Given the description of an element on the screen output the (x, y) to click on. 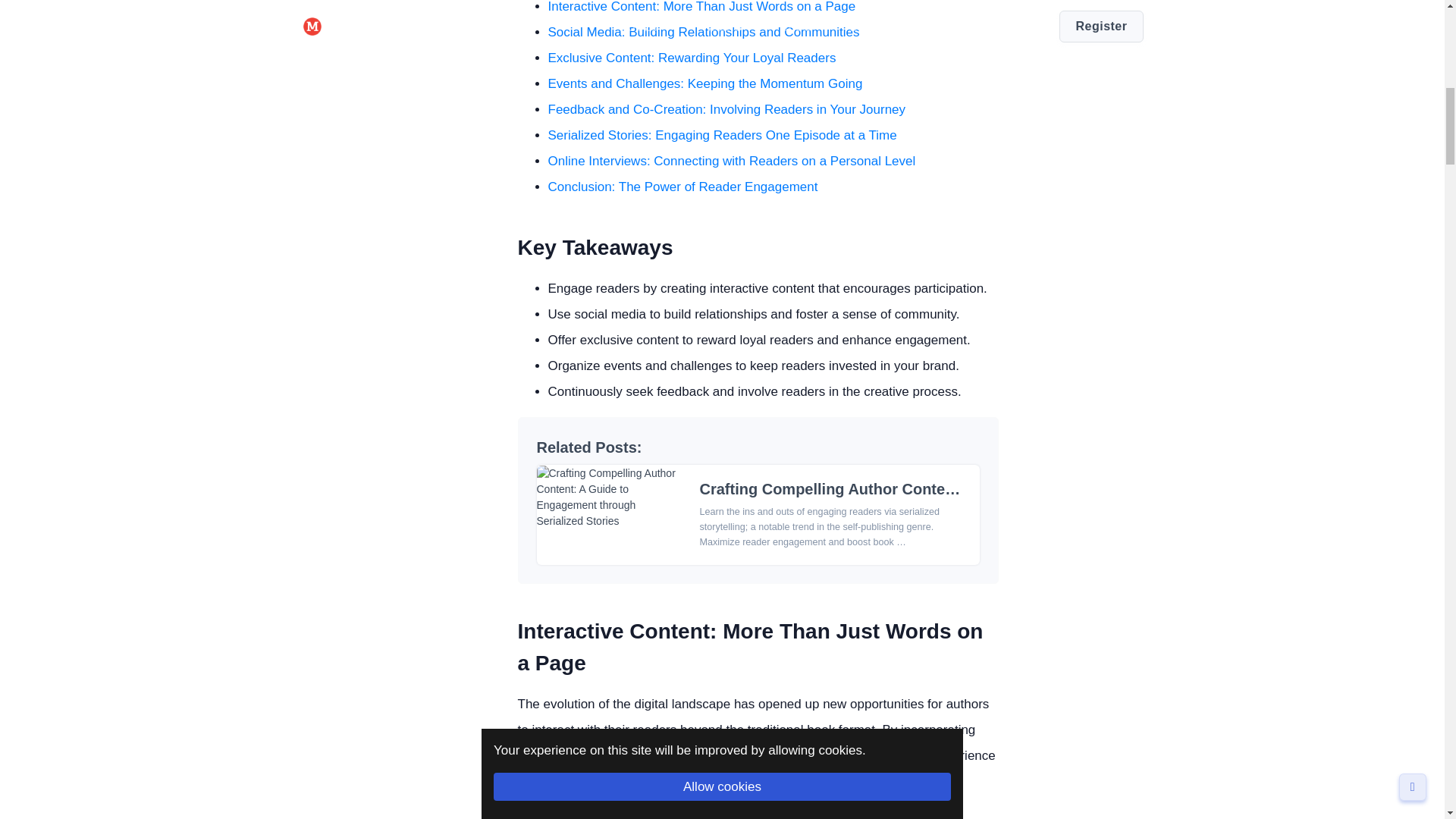
Feedback and Co-Creation: Involving Readers in Your Journey (726, 109)
Events and Challenges: Keeping the Momentum Going (704, 83)
Conclusion: The Power of Reader Engagement (681, 186)
Serialized Stories: Engaging Readers One Episode at a Time (721, 134)
Interactive Content: More Than Just Words on a Page (701, 6)
Exclusive Content: Rewarding Your Loyal Readers (691, 57)
Social Media: Building Relationships and Communities (703, 32)
